Given the description of an element on the screen output the (x, y) to click on. 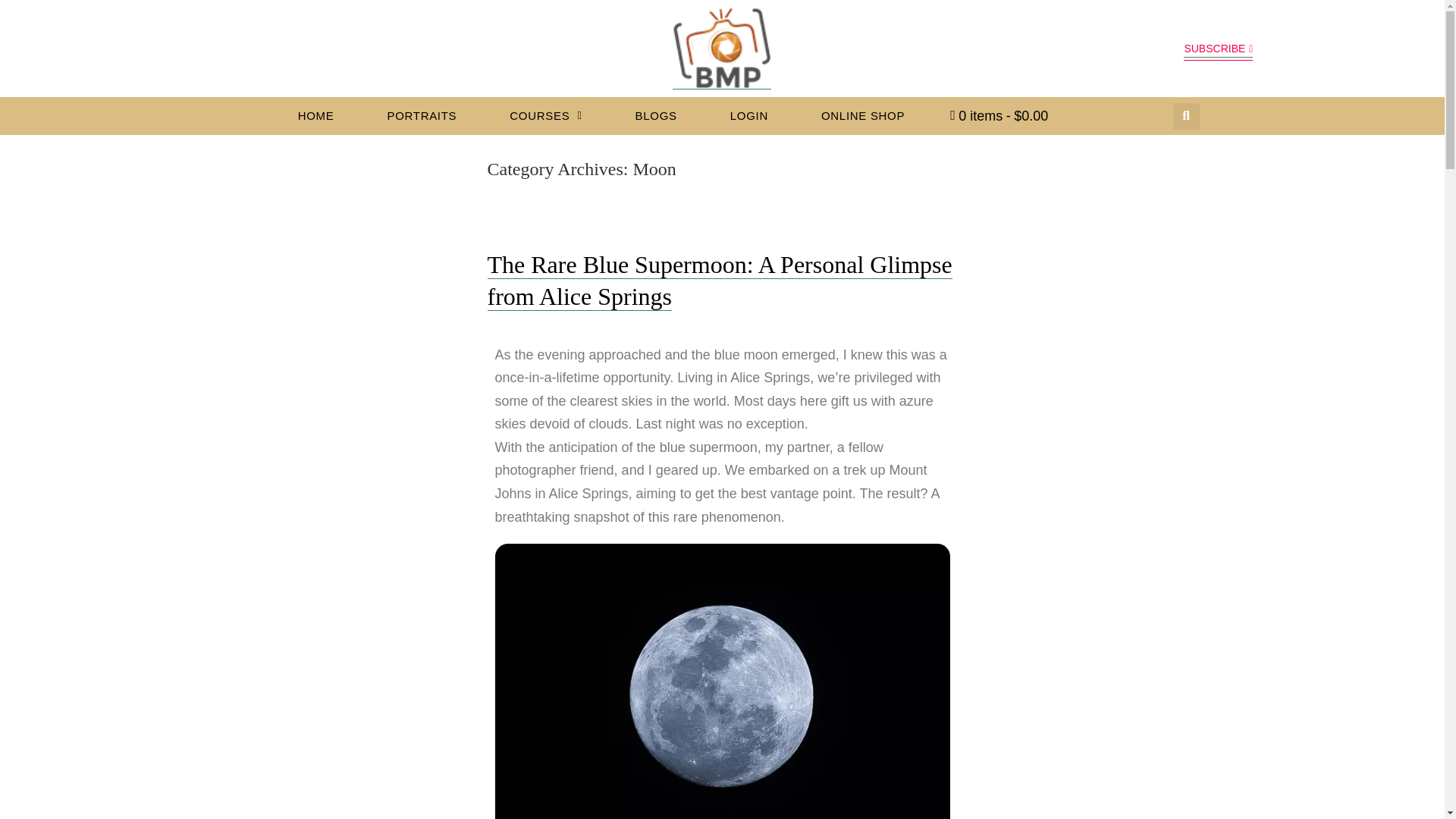
BLOGS (656, 115)
Start shopping (998, 115)
LOGIN (748, 115)
HOME (315, 115)
COURSES (545, 115)
PORTRAITS (421, 115)
ONLINE SHOP (862, 115)
SUBSCRIBE (1217, 49)
